Given the description of an element on the screen output the (x, y) to click on. 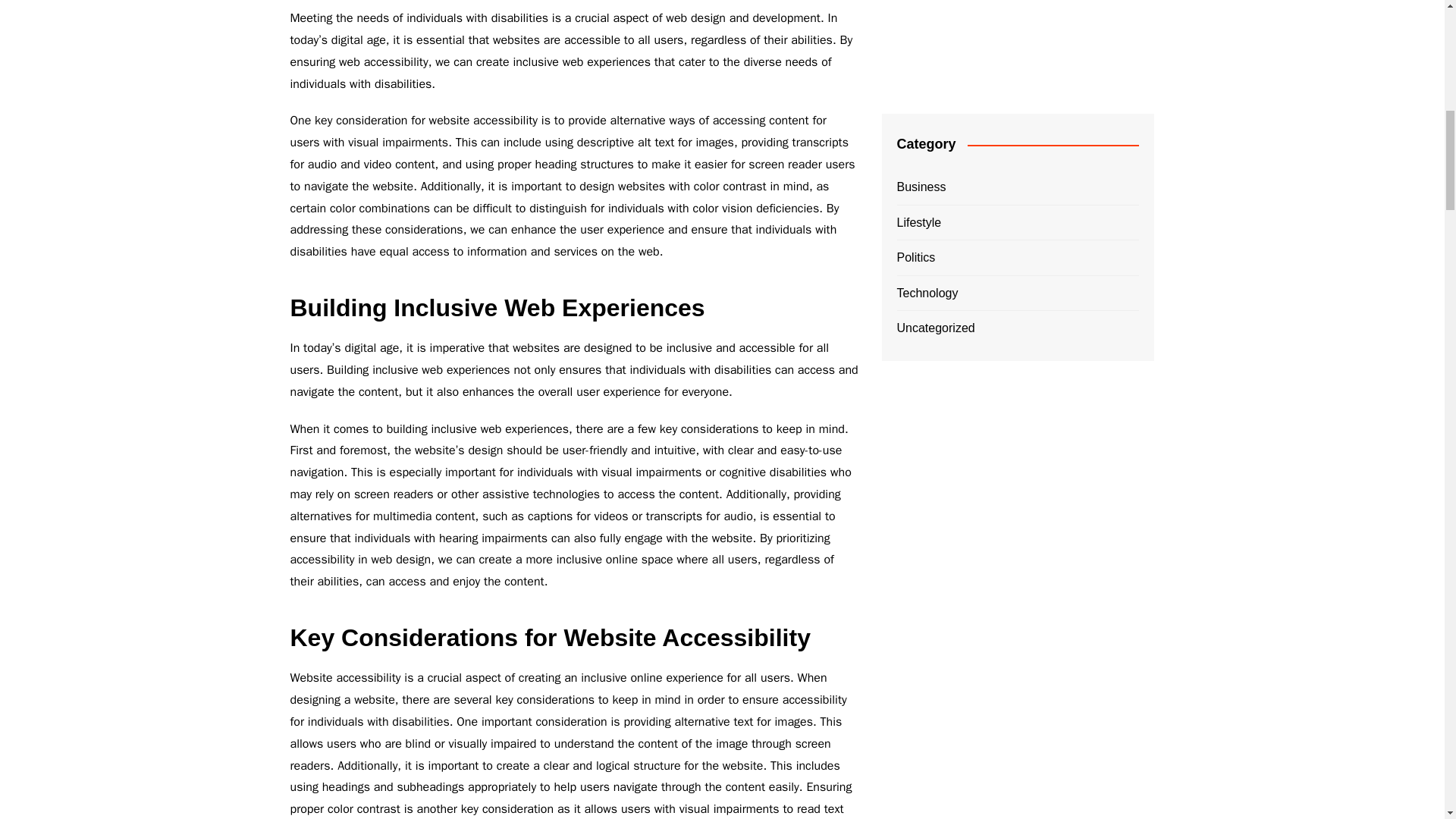
Politics (915, 257)
Uncategorized (935, 328)
Lifestyle (918, 222)
Business (920, 187)
Technology (927, 293)
Advertisement (1017, 45)
